Given the description of an element on the screen output the (x, y) to click on. 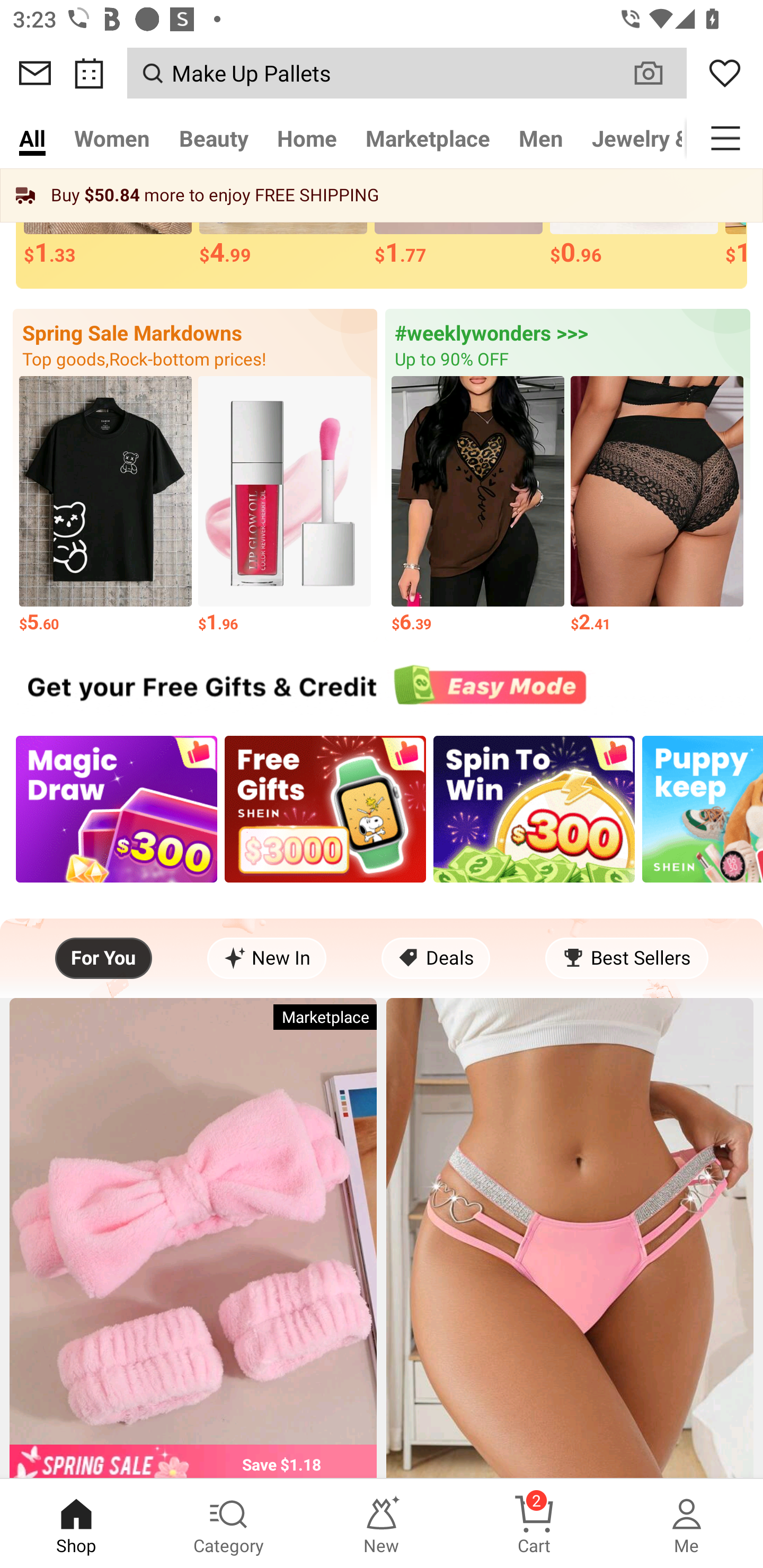
Wishlist (724, 72)
VISUAL SEARCH (657, 72)
All (31, 137)
Women (111, 137)
Beauty (213, 137)
Home (306, 137)
Marketplace (427, 137)
Men (540, 137)
Buy $50.84 more to enjoy FREE SHIPPING (381, 194)
$5.60 Price $5.60 (105, 505)
$1.96 Price $1.96 (284, 505)
$6.39 Price $6.39 (477, 505)
$2.41 Price $2.41 (656, 505)
New In (266, 957)
Deals (435, 957)
Best Sellers (626, 957)
Glitter Tape Cut Out Heart Ring Linked Panty (569, 1237)
Category (228, 1523)
New (381, 1523)
Cart 2 Cart (533, 1523)
Me (686, 1523)
